Given the description of an element on the screen output the (x, y) to click on. 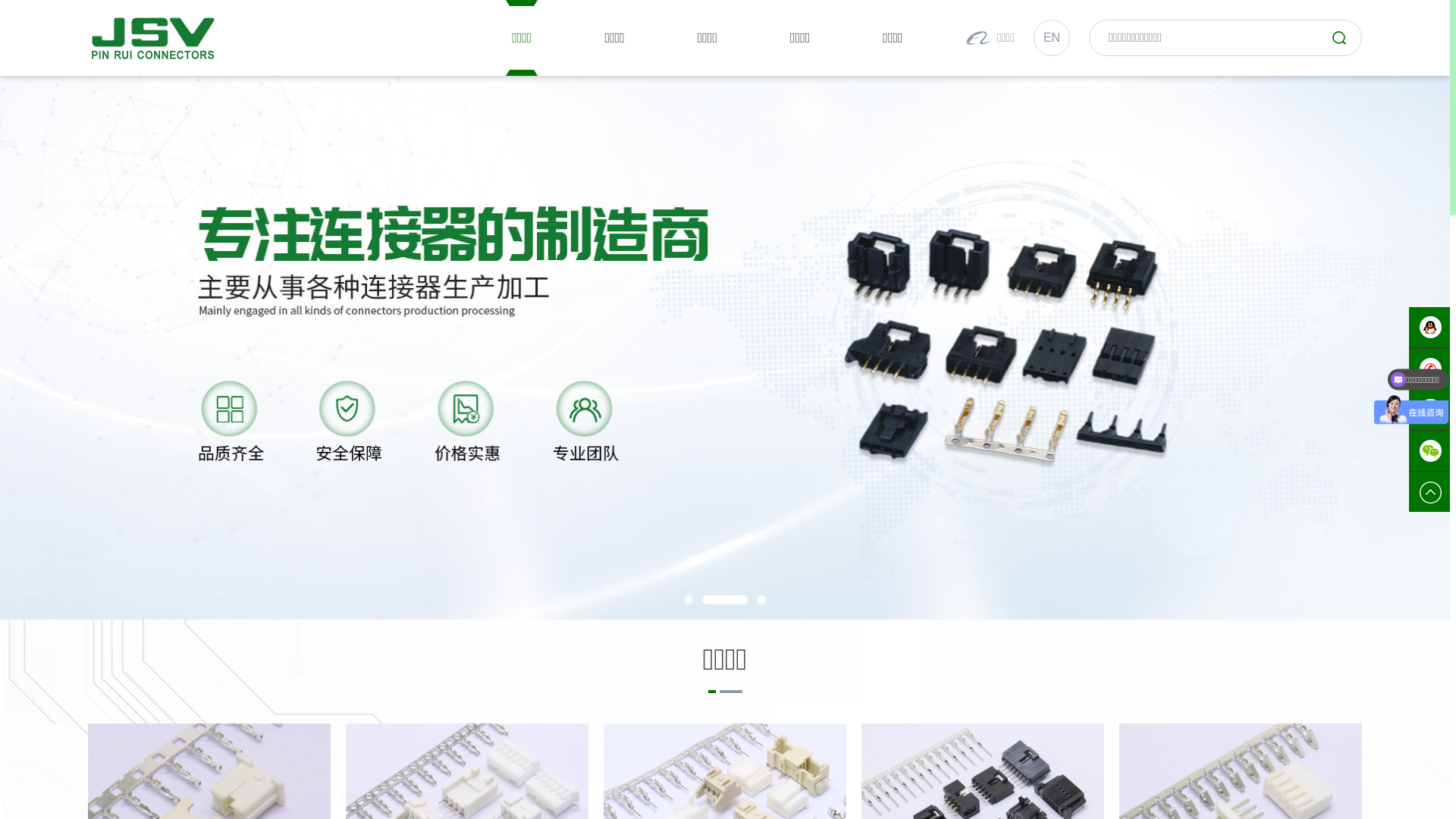
EN Element type: text (1051, 37)
